Given the description of an element on the screen output the (x, y) to click on. 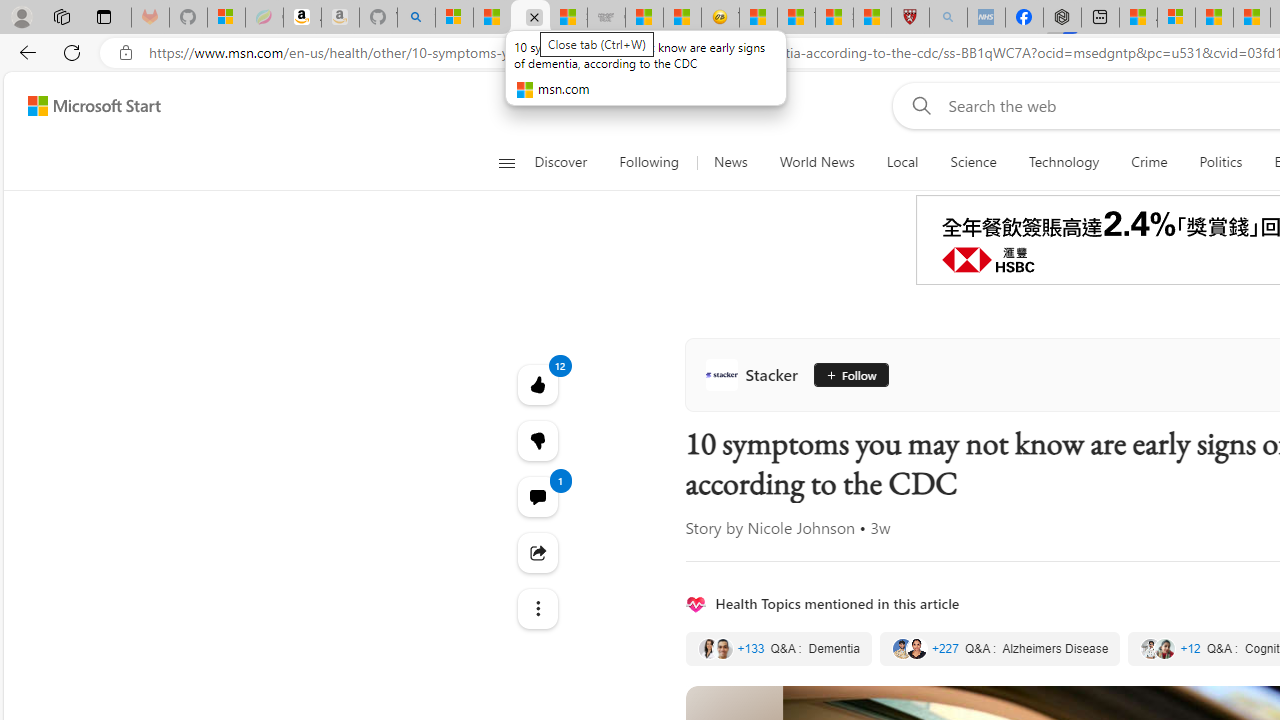
Stacker (755, 374)
Class: at-item (537, 609)
Science - MSN (833, 17)
Microsoft-Report a Concern to Bing (225, 17)
list of asthma inhalers uk - Search - Sleeping (948, 17)
Politics (1220, 162)
Technology (1064, 162)
News (730, 162)
News (729, 162)
Combat Siege (605, 17)
Dementia (777, 649)
Open navigation menu (506, 162)
Web search (917, 105)
